Given the description of an element on the screen output the (x, y) to click on. 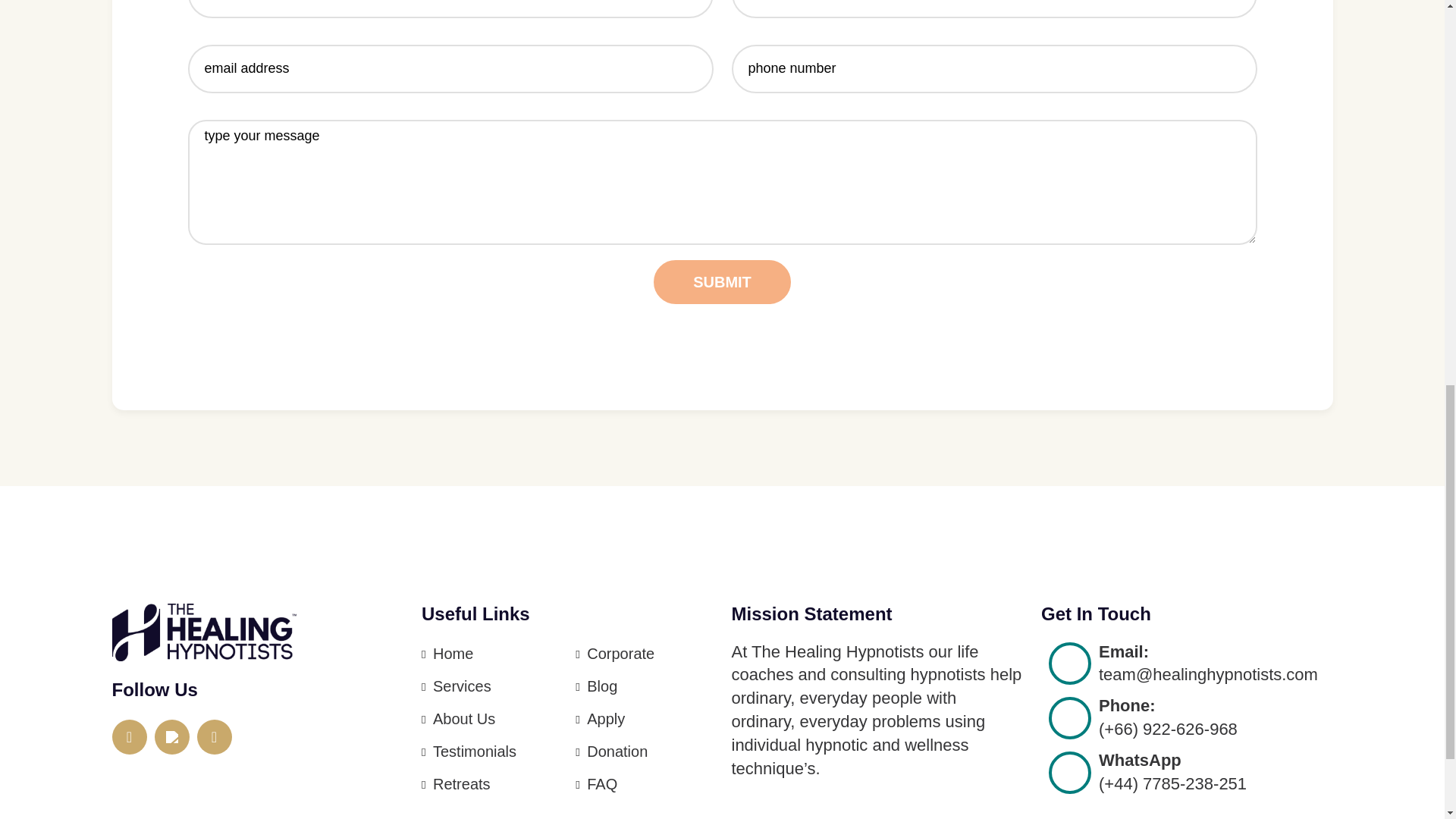
Corporate (619, 653)
Apply (605, 718)
Submit (721, 281)
Services (462, 686)
Blog (601, 686)
Donation (616, 751)
Retreats (461, 783)
Submit (721, 281)
About Us (463, 718)
Home (452, 653)
